Given the description of an element on the screen output the (x, y) to click on. 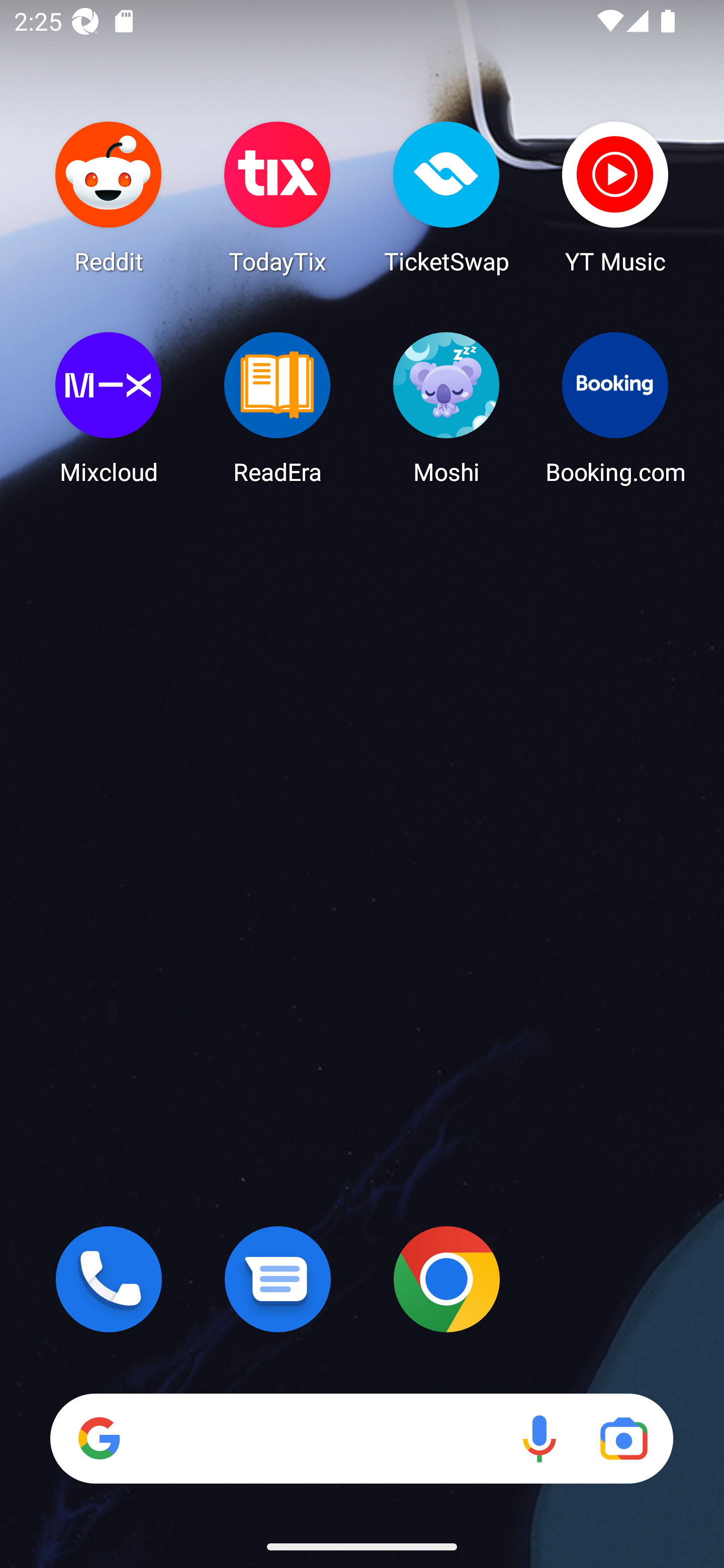
Reddit (108, 196)
TodayTix (277, 196)
TicketSwap (445, 196)
YT Music (615, 196)
Mixcloud (108, 407)
ReadEra (277, 407)
Moshi (445, 407)
Booking.com (615, 407)
Phone (108, 1279)
Messages (277, 1279)
Chrome (446, 1279)
Search Voice search Google Lens (361, 1438)
Voice search (539, 1438)
Google Lens (623, 1438)
